Given the description of an element on the screen output the (x, y) to click on. 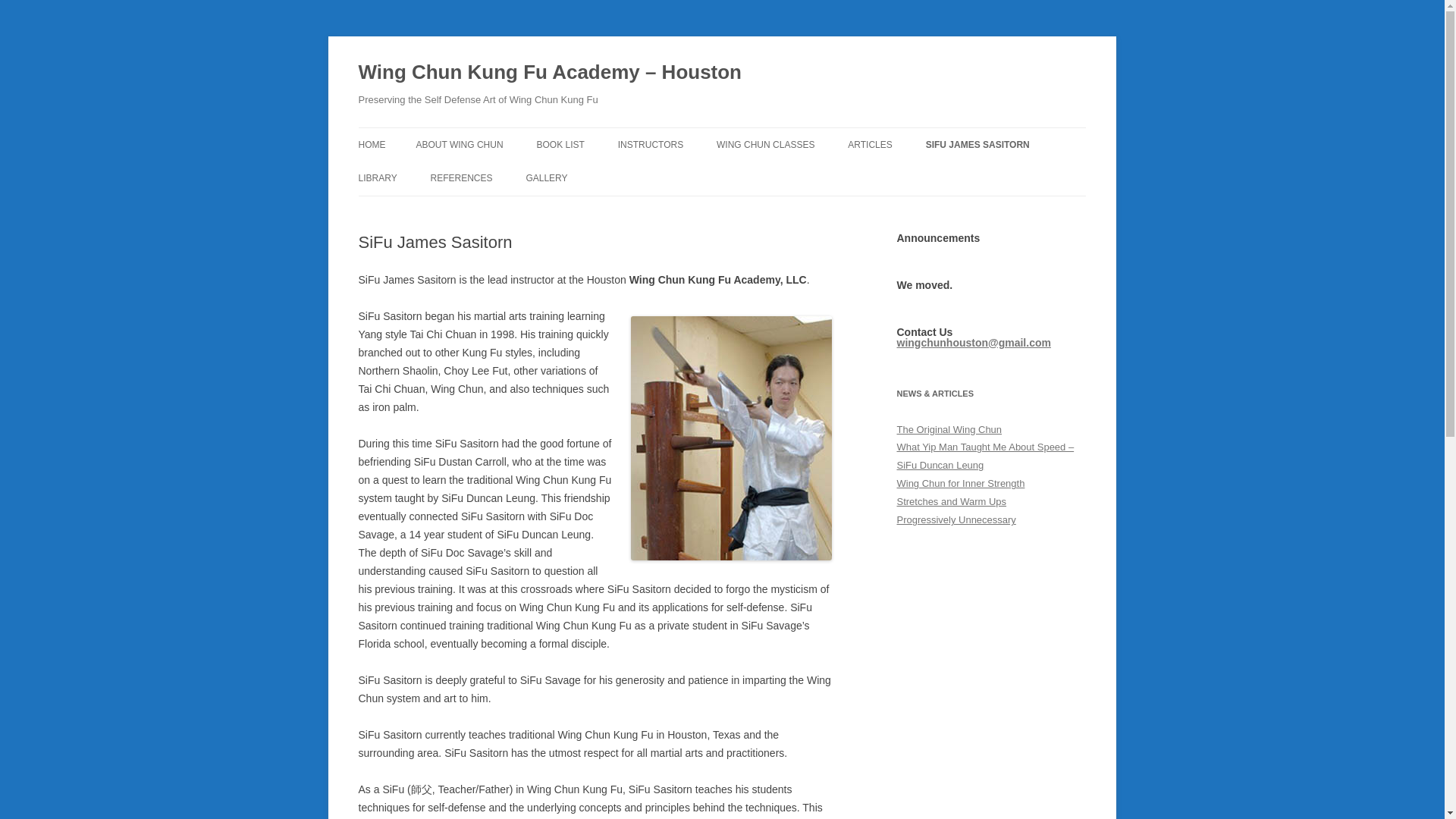
REFERENCES (461, 177)
Stretches and Warm Ups (951, 501)
LIBRARY2 (433, 210)
Wing Chun for Inner Strength (960, 482)
BOOK LIST (559, 144)
The Original Wing Chun (948, 428)
Progressively Unnecessary (955, 519)
INSTRUCTORS (649, 144)
ARTICLES (869, 144)
